Given the description of an element on the screen output the (x, y) to click on. 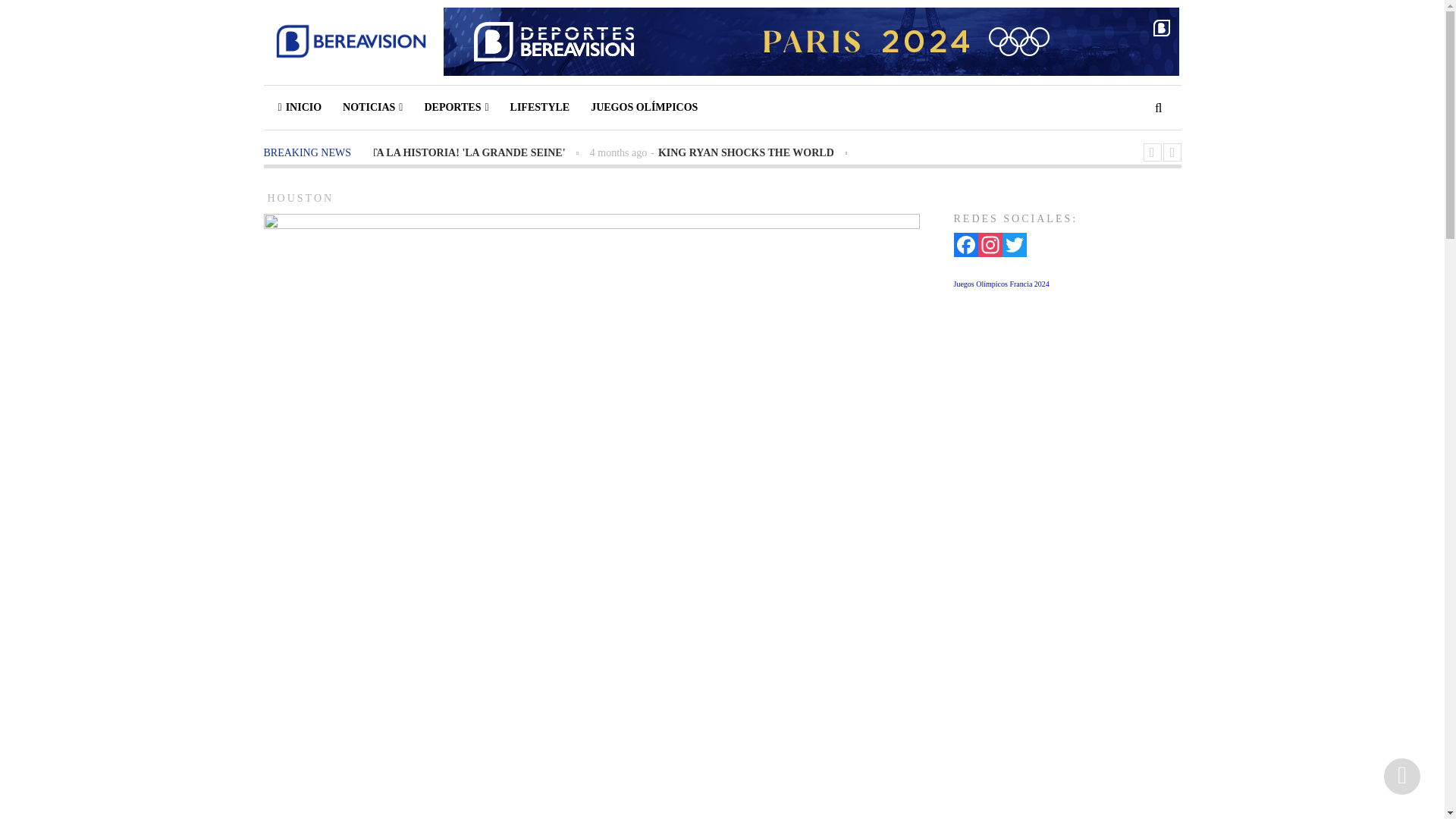
DEPORTES (456, 107)
INICIO (298, 107)
NOTICIAS (372, 107)
